Given the description of an element on the screen output the (x, y) to click on. 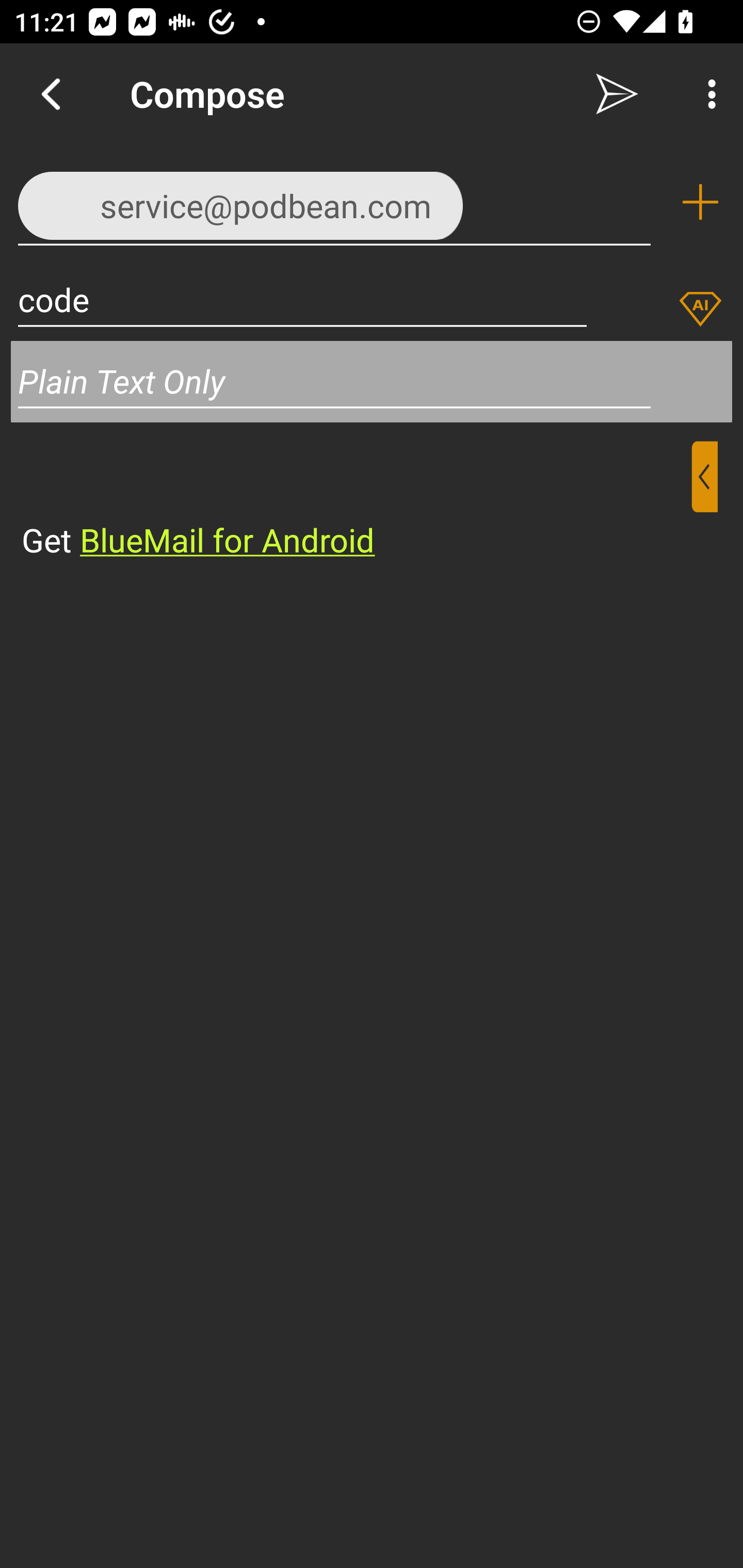
Navigate up (50, 93)
Send (616, 93)
More Options (706, 93)
<service@podbean.com>,  (334, 201)
Add recipient (To) (699, 201)
code (302, 299)
Plain Text Only (371, 380)


⁣Get BlueMail for Android ​ (355, 501)
